Given the description of an element on the screen output the (x, y) to click on. 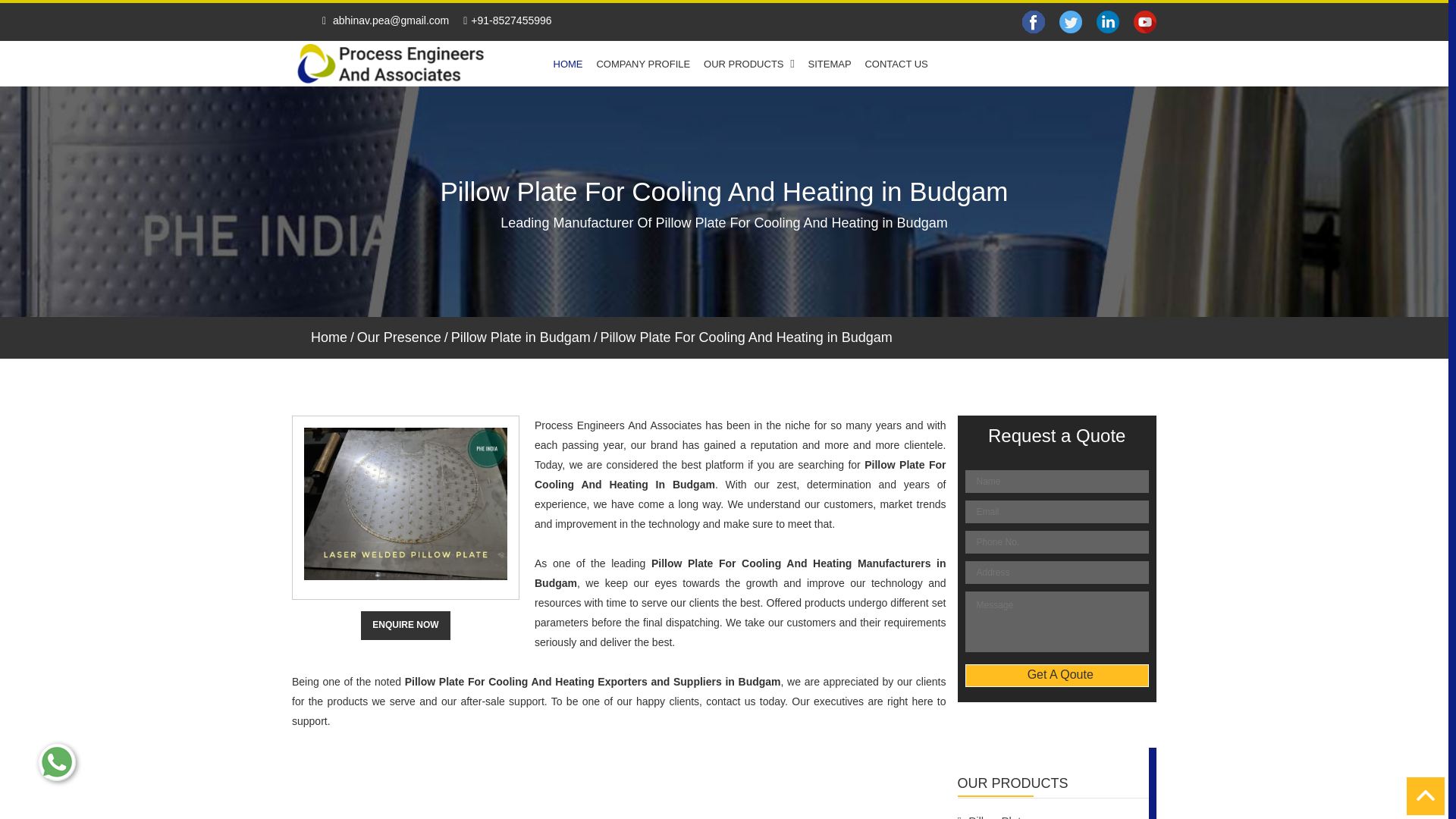
facebook (1070, 21)
facebook (1145, 21)
facebook (1033, 21)
facebook (1107, 21)
Get A Qoute (1055, 675)
Youtube (1145, 21)
Twitter (1070, 21)
Linkedin (1107, 21)
Facebook (1033, 21)
